Given the description of an element on the screen output the (x, y) to click on. 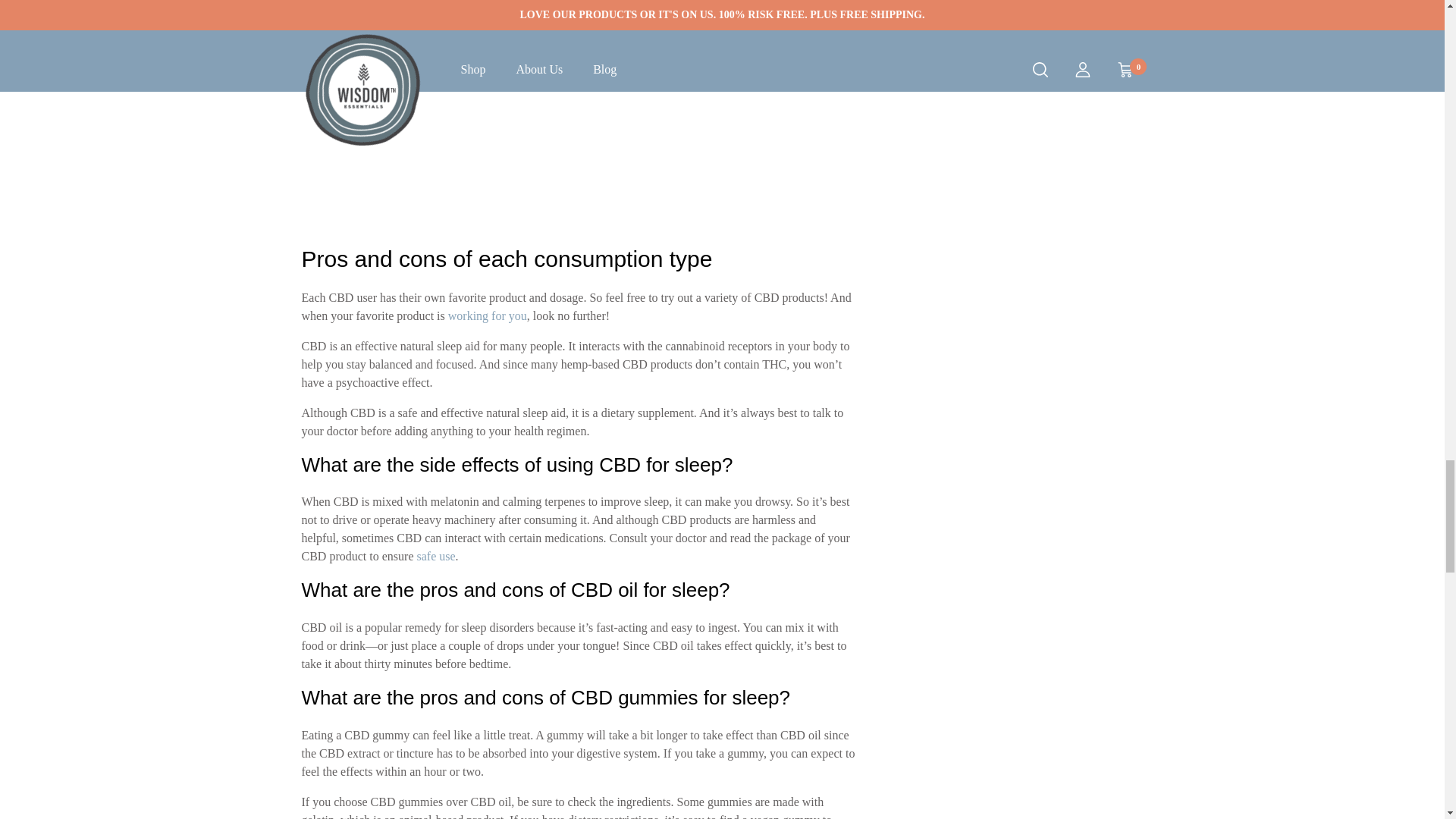
safe use (435, 555)
working for you (487, 315)
